Given the description of an element on the screen output the (x, y) to click on. 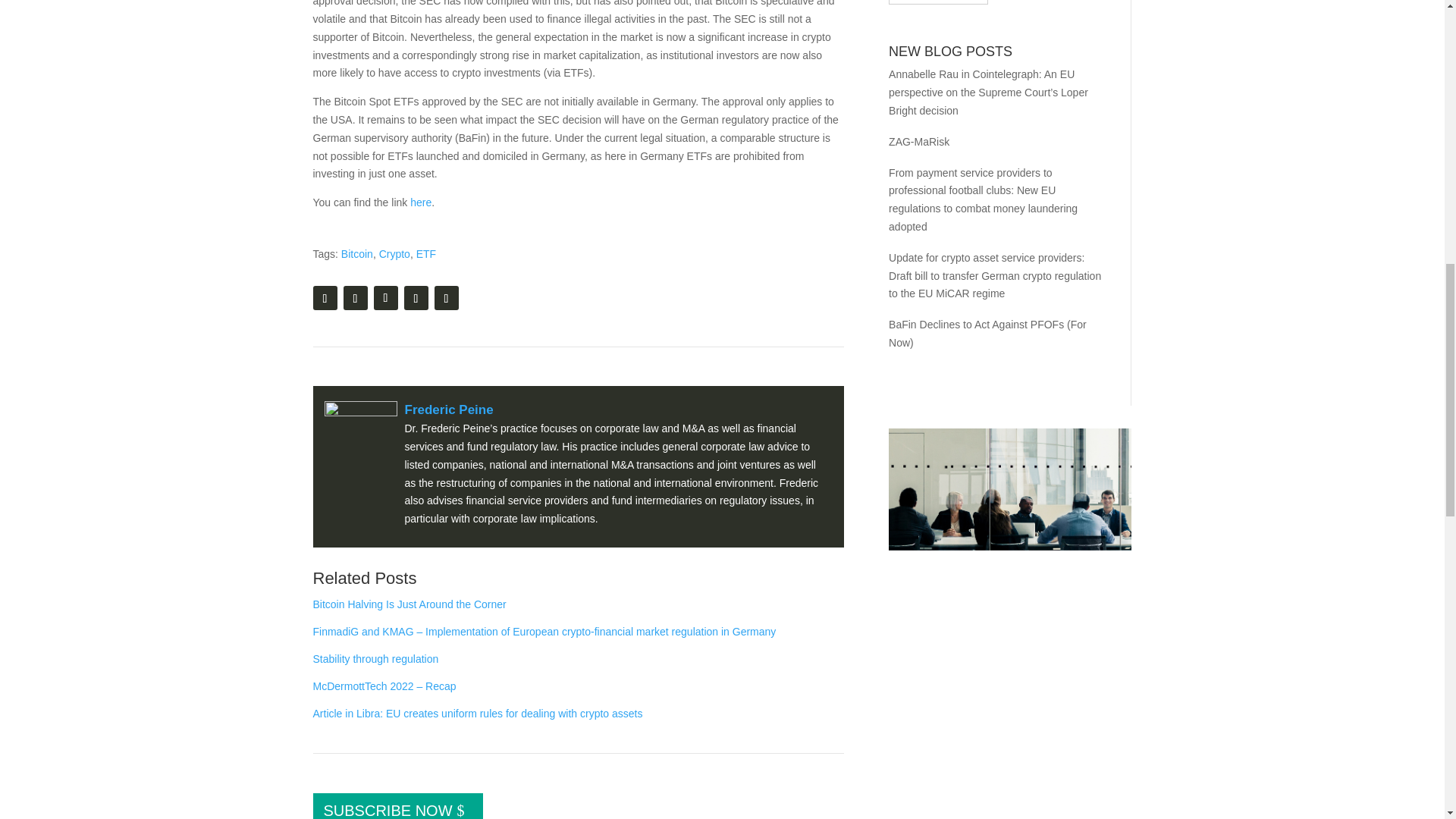
Stability through regulation (375, 658)
Bitcoin Halving Is Just Around the Corner (409, 604)
ETF (425, 254)
Frederic Peine (448, 409)
Follow on X (384, 297)
Follow on tumblr (324, 297)
Follow on dribbble (445, 297)
Bitcoin (356, 254)
here (420, 202)
Follow on Pinterest (415, 297)
